Given the description of an element on the screen output the (x, y) to click on. 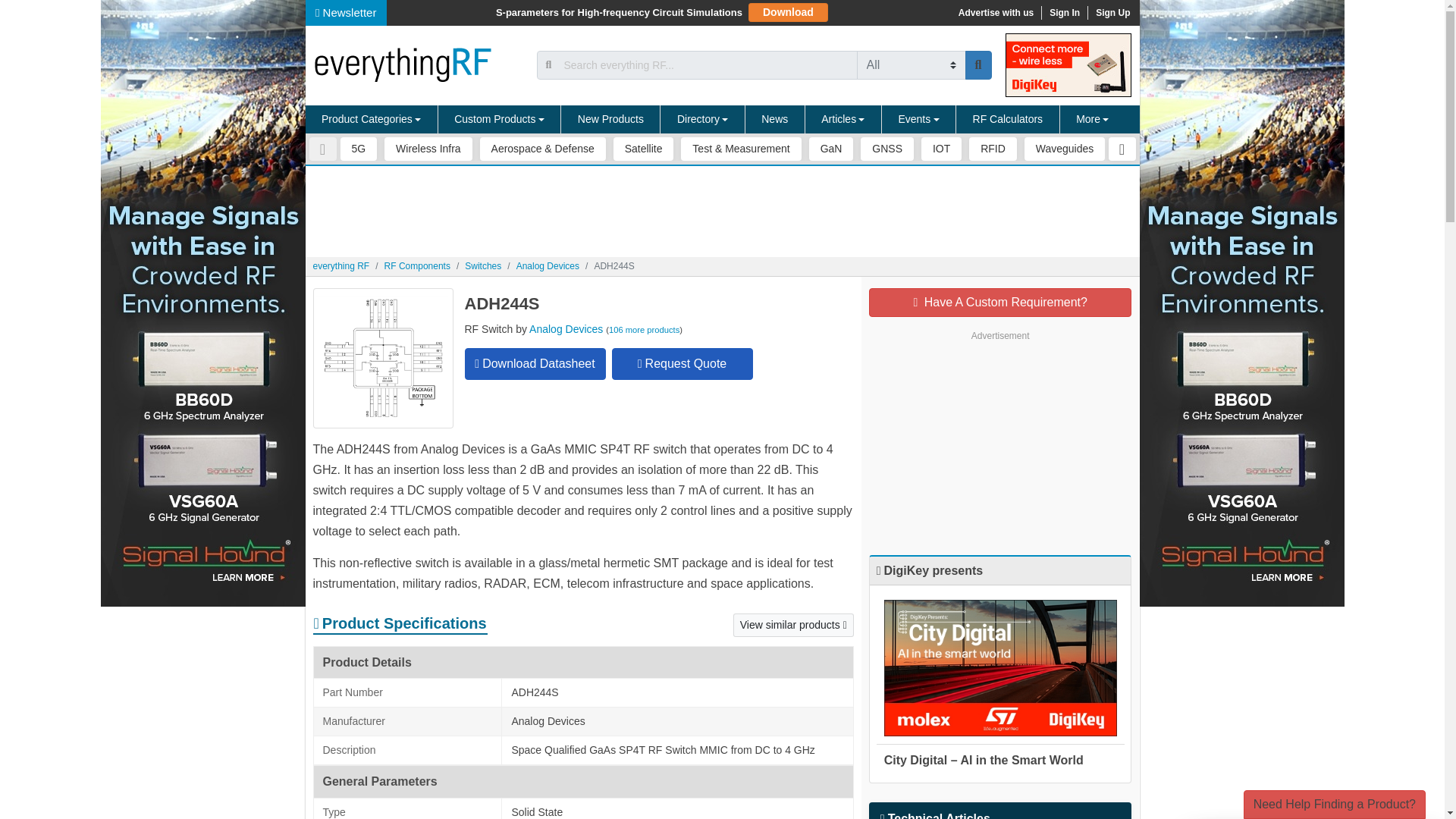
Product Categories (371, 119)
Advertise with us (995, 12)
Sign In (1064, 12)
Download (788, 12)
Sign Up (1112, 12)
Newsletter (345, 12)
S-parameters for High-frequency Circuit Simulations (619, 12)
